Given the description of an element on the screen output the (x, y) to click on. 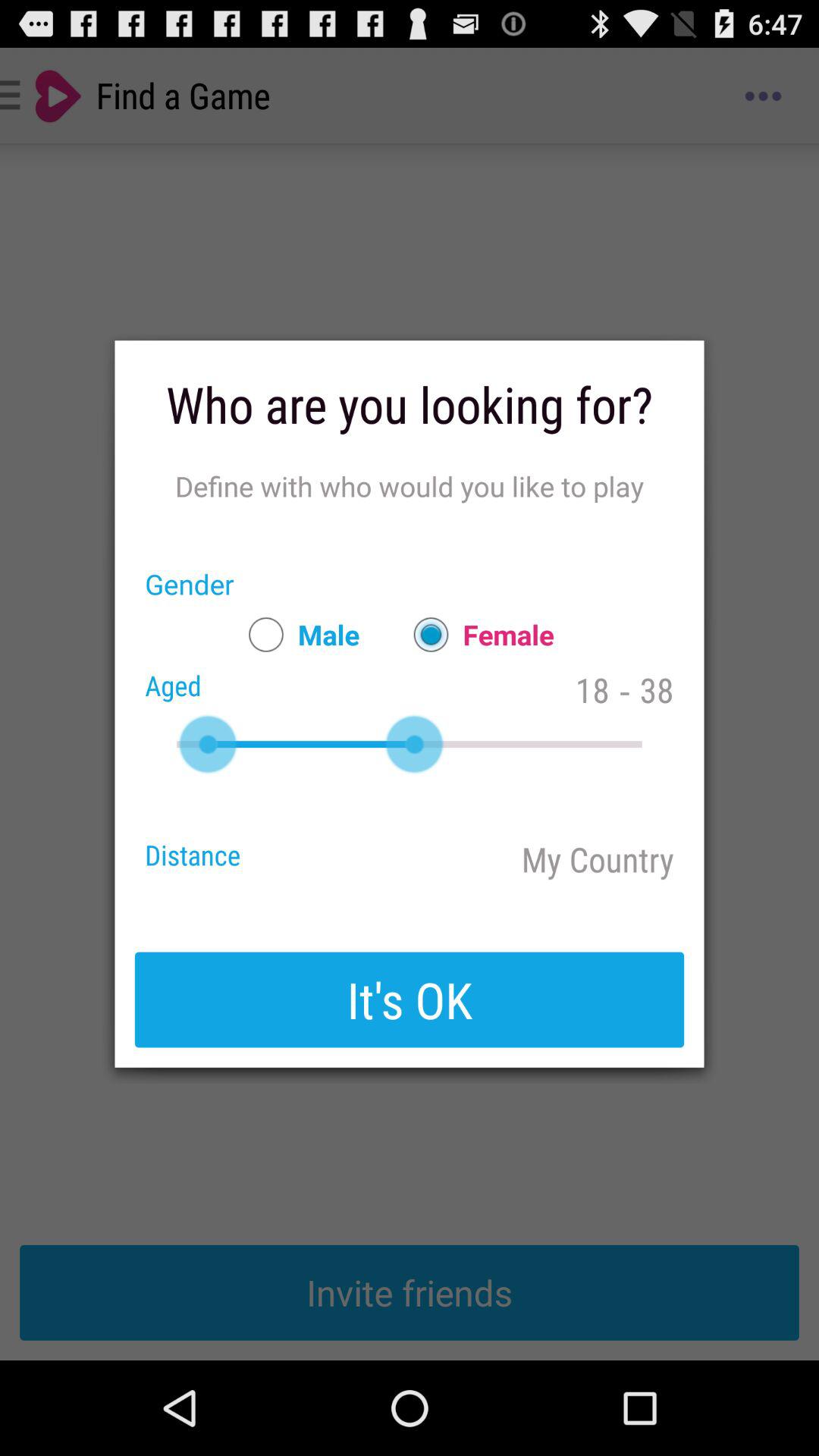
tap icon to the right of male icon (476, 634)
